Given the description of an element on the screen output the (x, y) to click on. 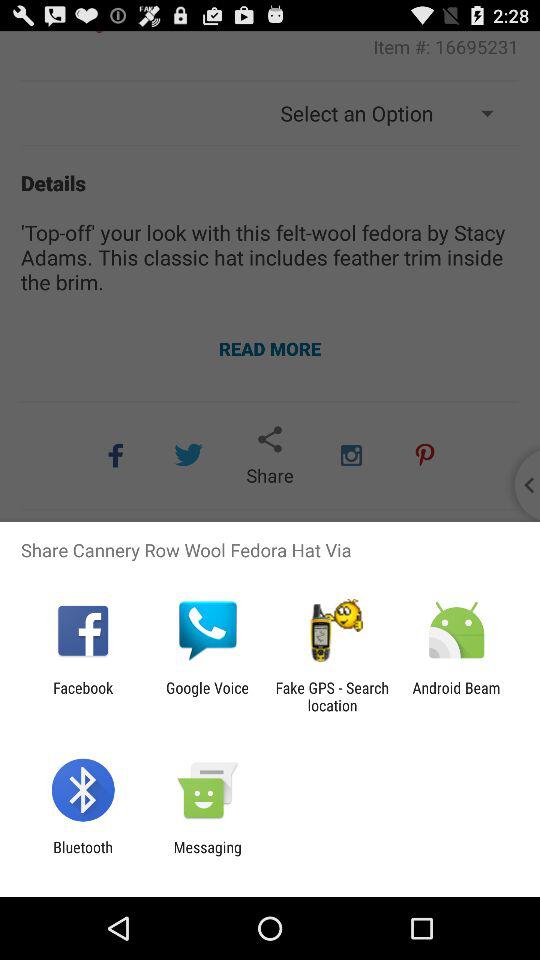
press icon to the left of the messaging app (82, 856)
